Given the description of an element on the screen output the (x, y) to click on. 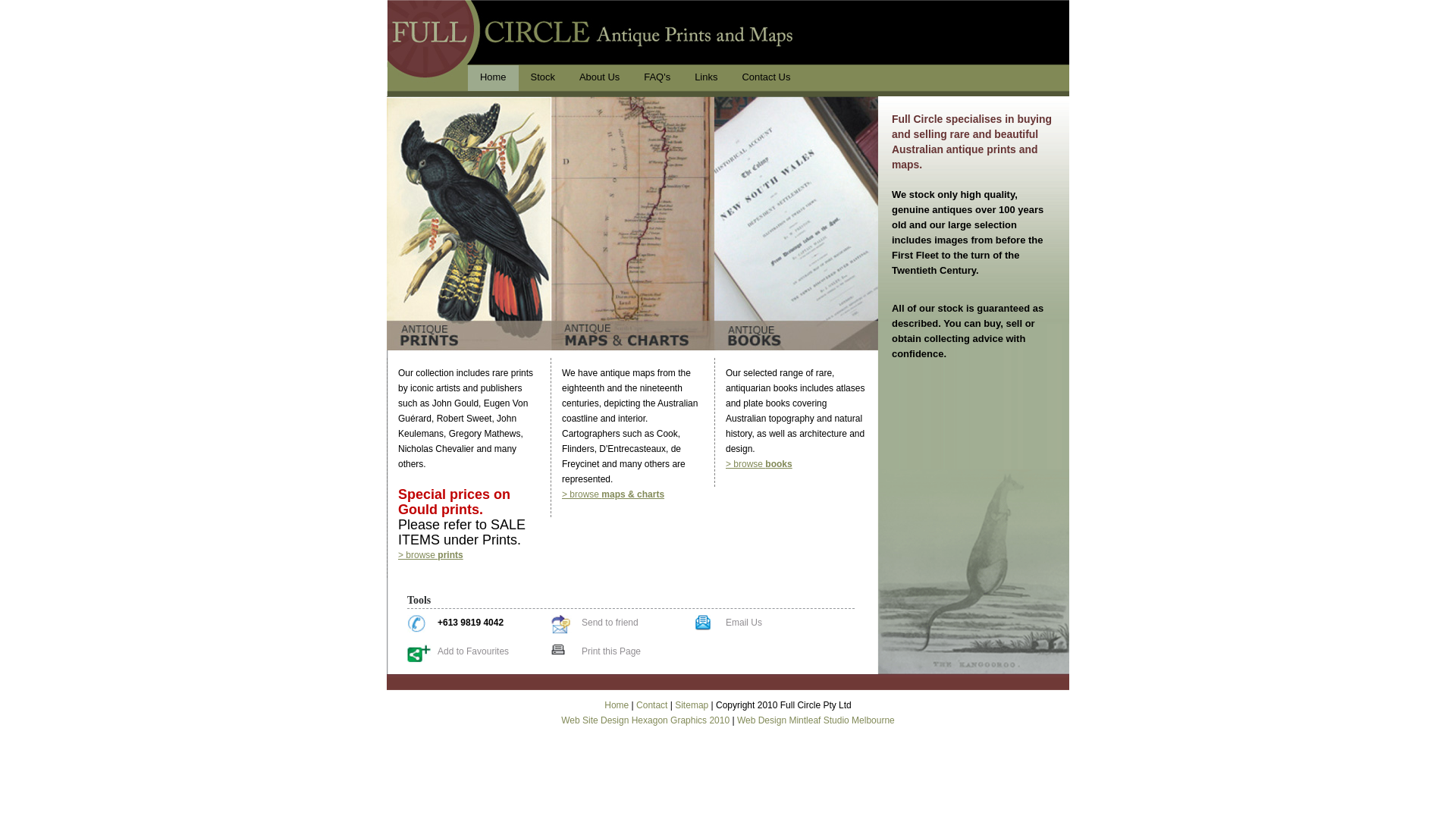
Add to Favourites Element type: text (472, 651)
Home Element type: text (616, 704)
> browse prints Element type: text (430, 554)
Contact Us Element type: text (765, 78)
Web Design Mintleaf Studio Melbourne Element type: text (815, 720)
> browse books Element type: text (758, 463)
Send to friend Element type: text (609, 622)
Contact Element type: text (651, 704)
Stock Element type: text (542, 78)
About Us Element type: text (599, 78)
Home Element type: text (492, 78)
Email Us Element type: text (743, 622)
Sitemap Element type: text (691, 704)
> browse maps & charts Element type: text (612, 494)
Print this Page Element type: text (610, 651)
Links Element type: text (705, 78)
Web Site Design Hexagon Graphics 2010 Element type: text (645, 720)
FAQ's Element type: text (656, 78)
